Given the description of an element on the screen output the (x, y) to click on. 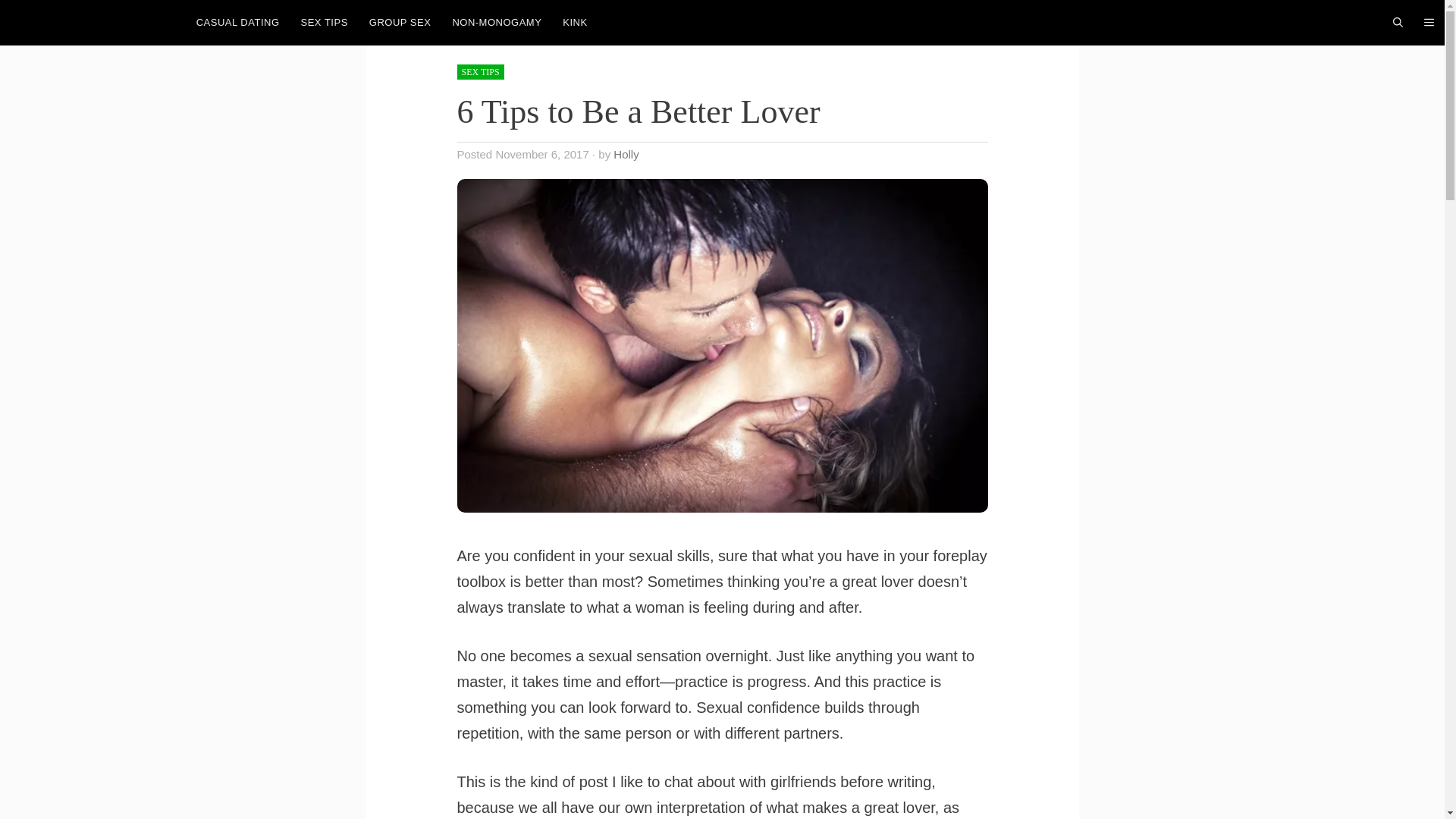
CASUAL DATING (237, 22)
NON-MONOGAMY (496, 22)
SEX TIPS (480, 71)
SEX TIPS (323, 22)
View all posts by Holly (625, 154)
Holly (625, 154)
GROUP SEX (400, 22)
Hookup Land (92, 22)
KINK (573, 22)
